Given the description of an element on the screen output the (x, y) to click on. 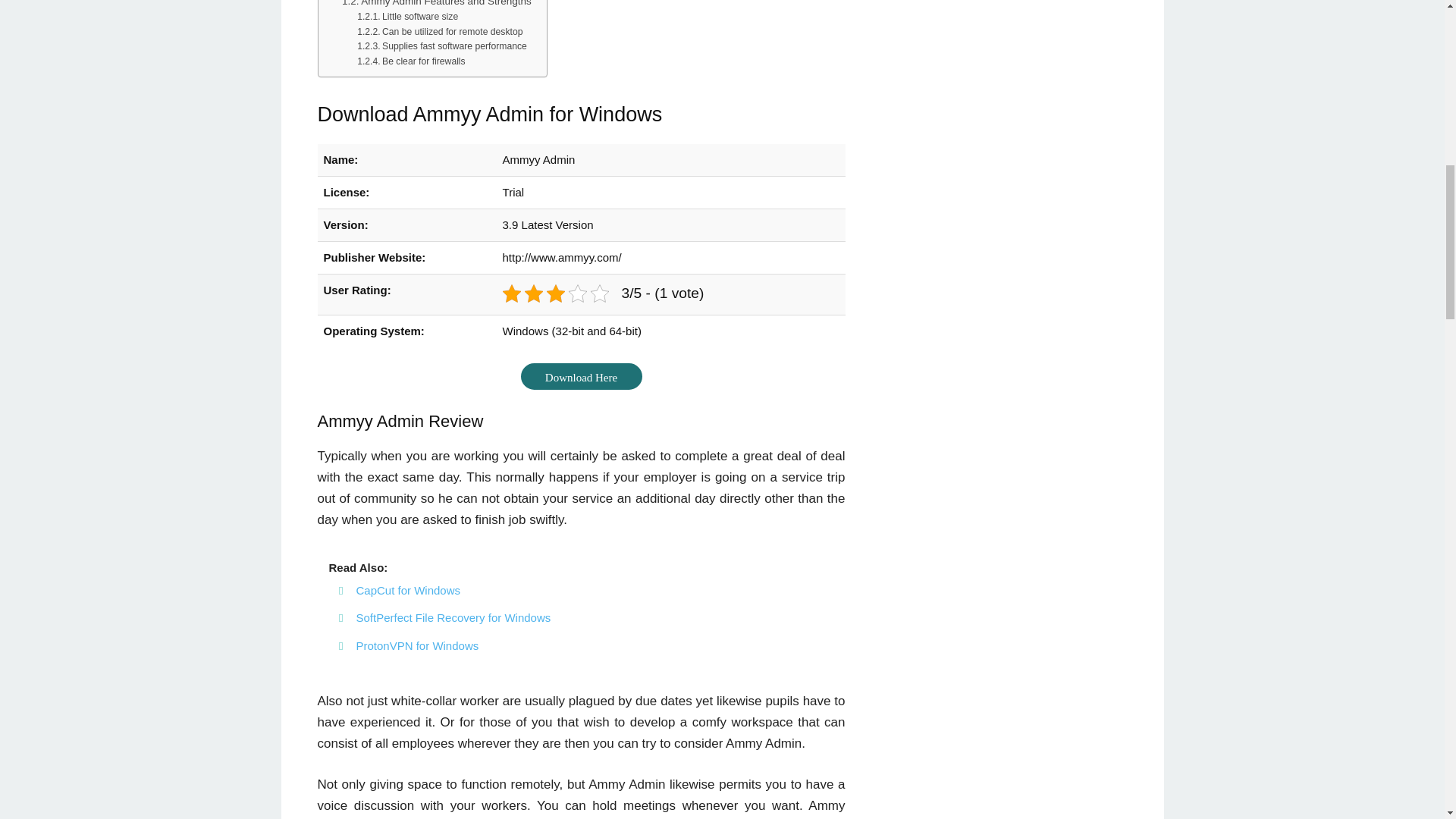
Little software size (407, 17)
Can be utilized for remote desktop (439, 32)
Can be utilized for remote desktop (439, 32)
SoftPerfect File Recovery for Windows (453, 617)
CapCut for Windows (408, 590)
Supplies fast software performance (441, 46)
Supplies fast software performance (441, 46)
Download Here (580, 376)
ProtonVPN for Windows (417, 645)
Be clear for firewalls (410, 61)
Ammy Admin Features and Strengths (436, 4)
Ammy Admin Features and Strengths (436, 4)
Little software size (407, 17)
Be clear for firewalls (410, 61)
